Given the description of an element on the screen output the (x, y) to click on. 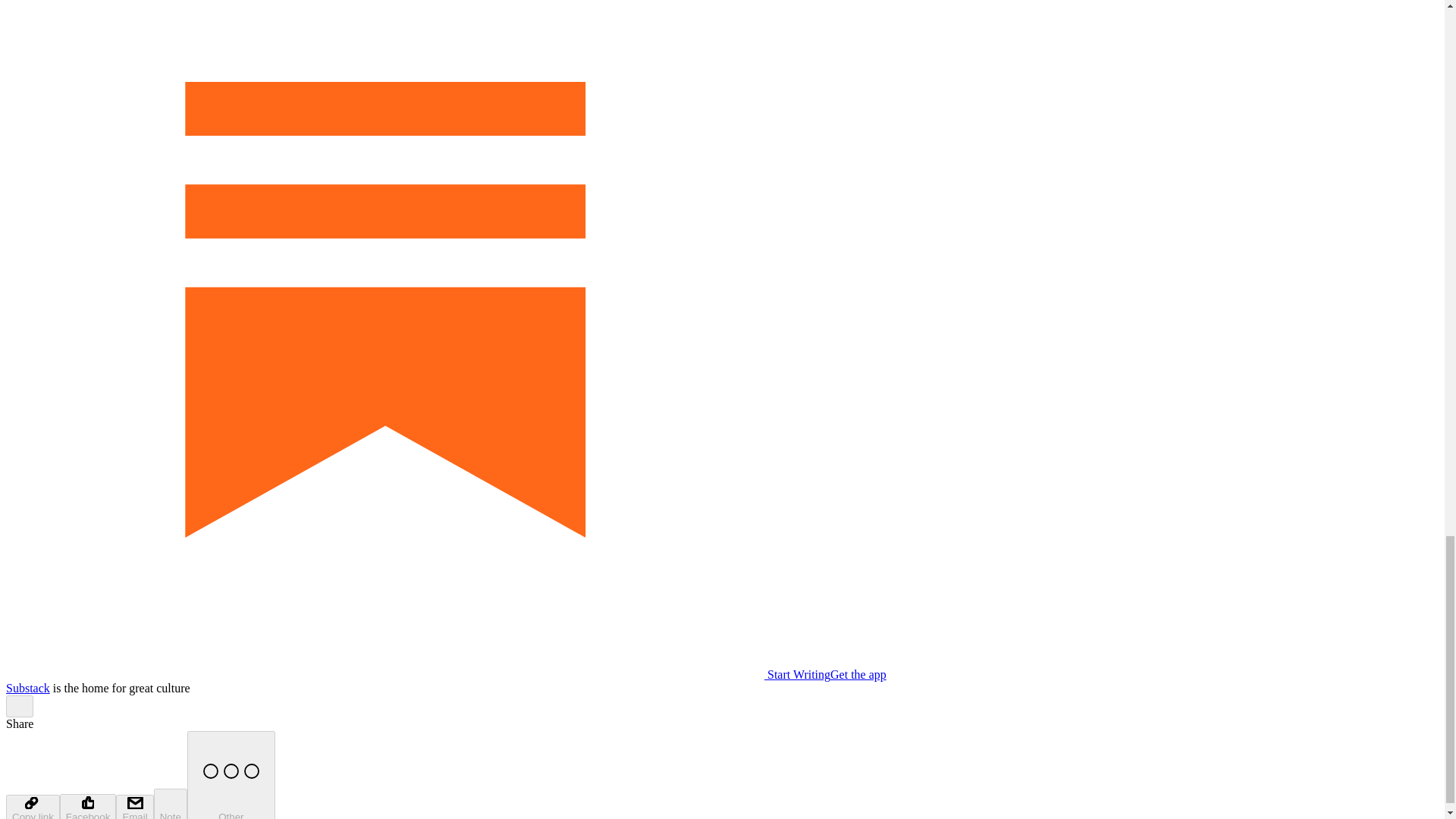
Substack (27, 687)
Get the app (857, 674)
Start Writing (417, 674)
